Given the description of an element on the screen output the (x, y) to click on. 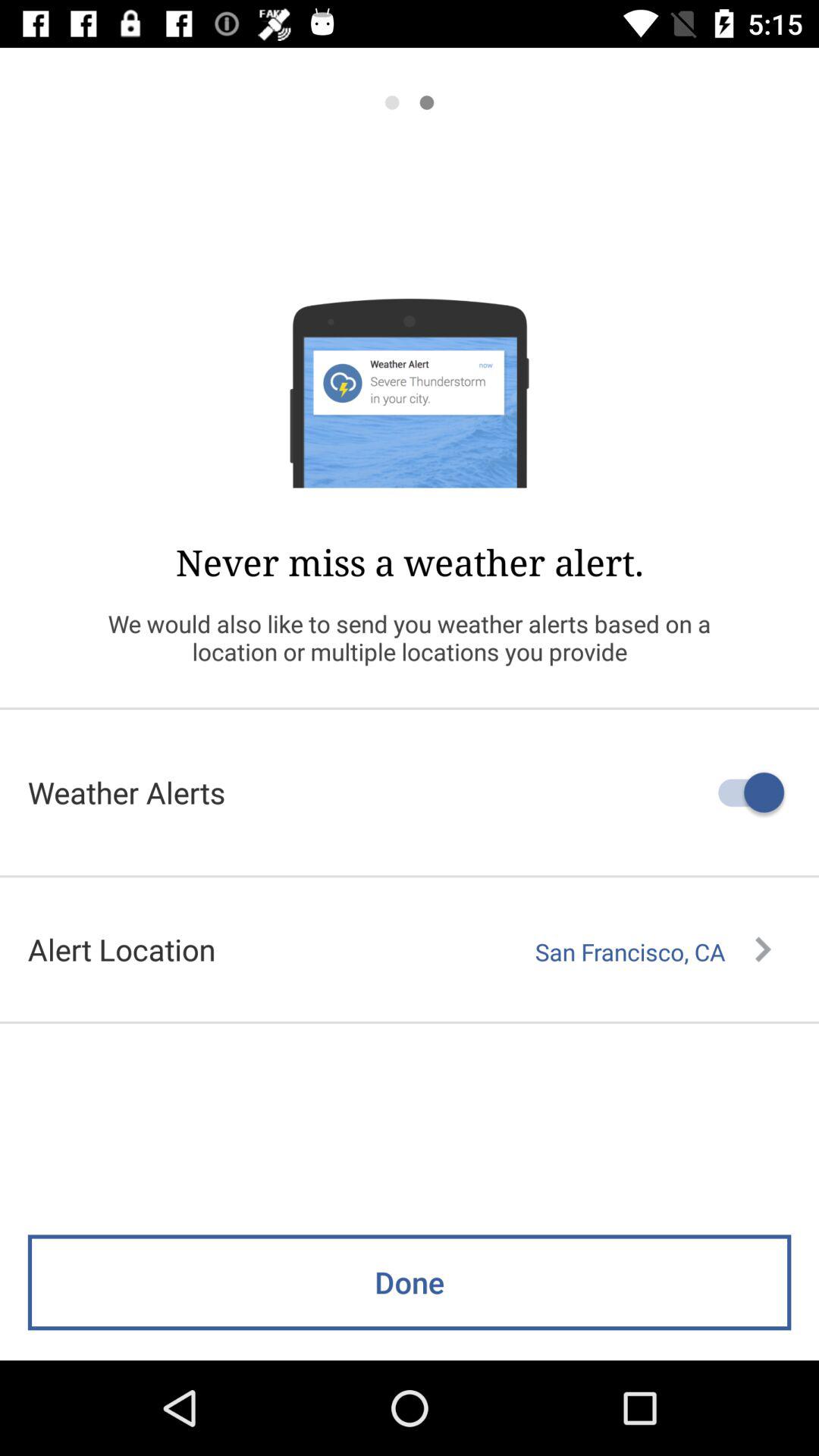
select done icon (409, 1282)
